Given the description of an element on the screen output the (x, y) to click on. 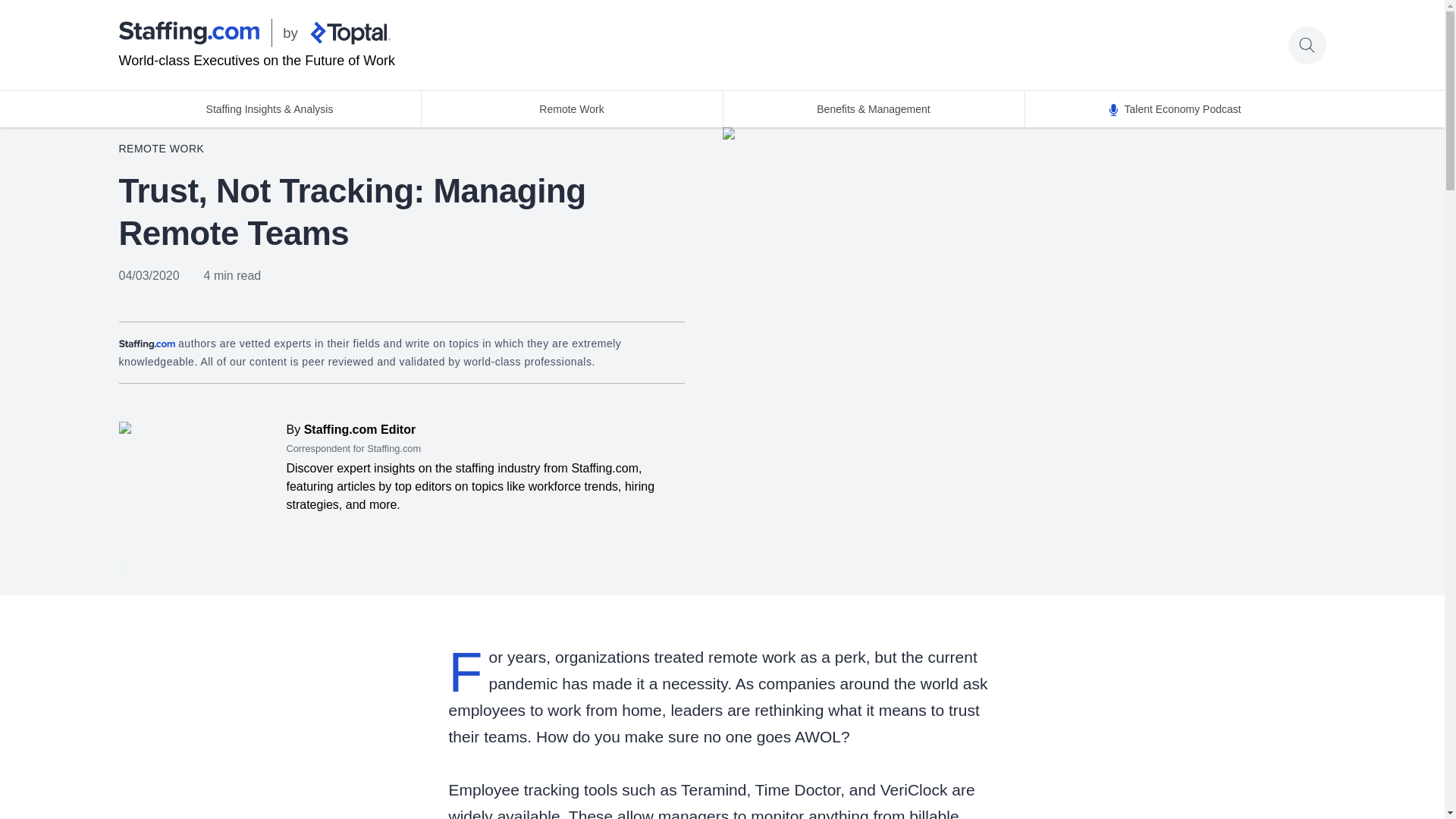
Staffing.com (188, 33)
Toptal (349, 33)
REMOTE WORK (160, 148)
Staffing.com Editor (356, 429)
Talent Economy Podcast (1173, 108)
Remote Work (571, 108)
